Given the description of an element on the screen output the (x, y) to click on. 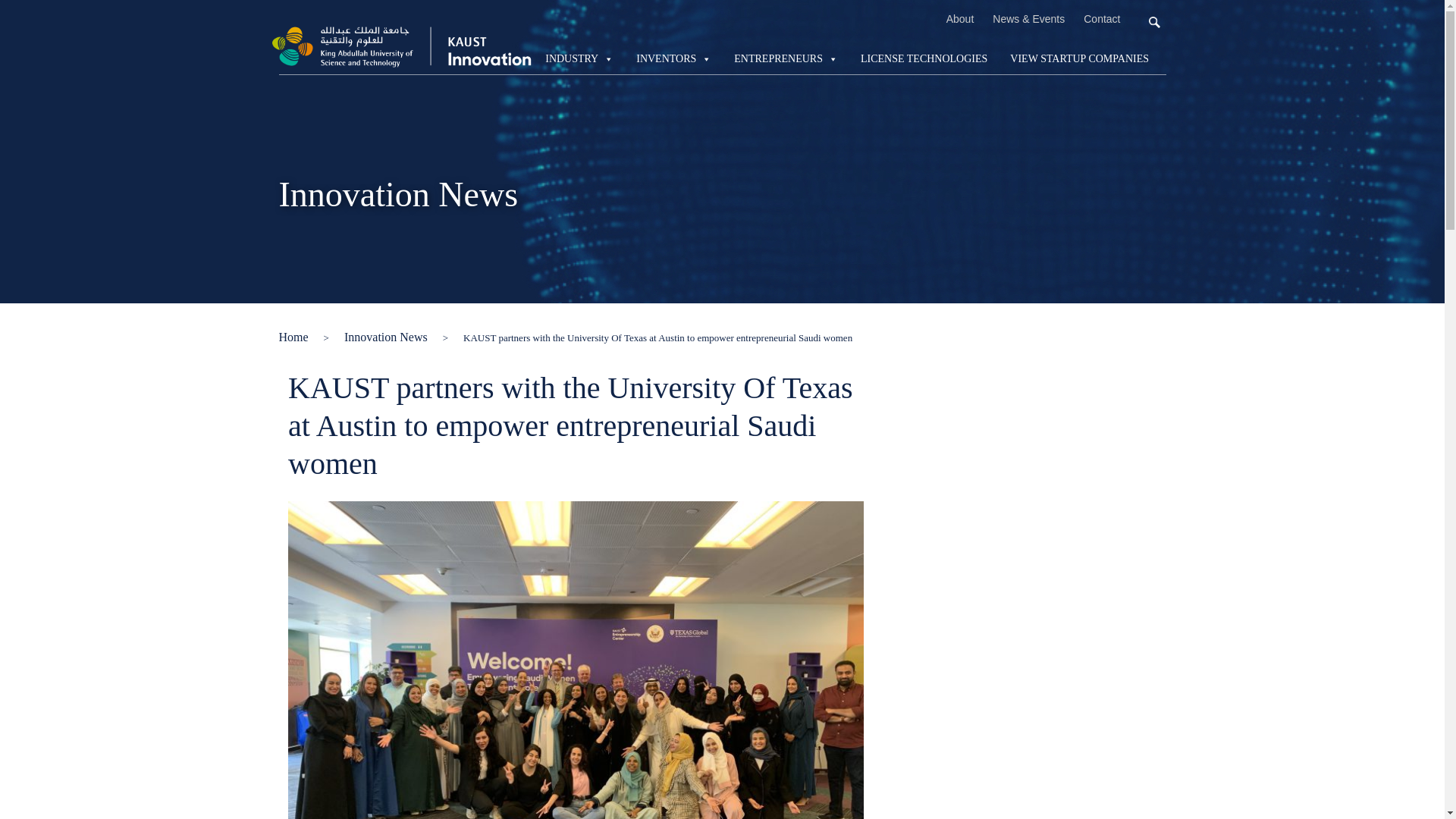
Search (42, 15)
ENTREPRENEURS (785, 59)
LICENSE TECHNOLOGIES (923, 59)
Contact (1101, 19)
INDUSTRY (579, 59)
VIEW STARTUP COMPANIES (1079, 59)
INVENTORS (673, 59)
About (960, 19)
